Given the description of an element on the screen output the (x, y) to click on. 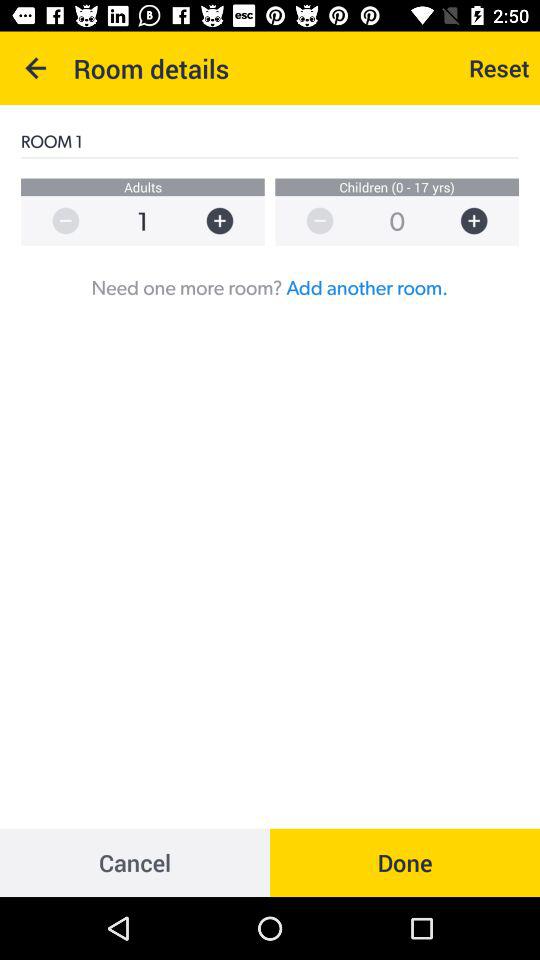
remove selection (55, 220)
